Given the description of an element on the screen output the (x, y) to click on. 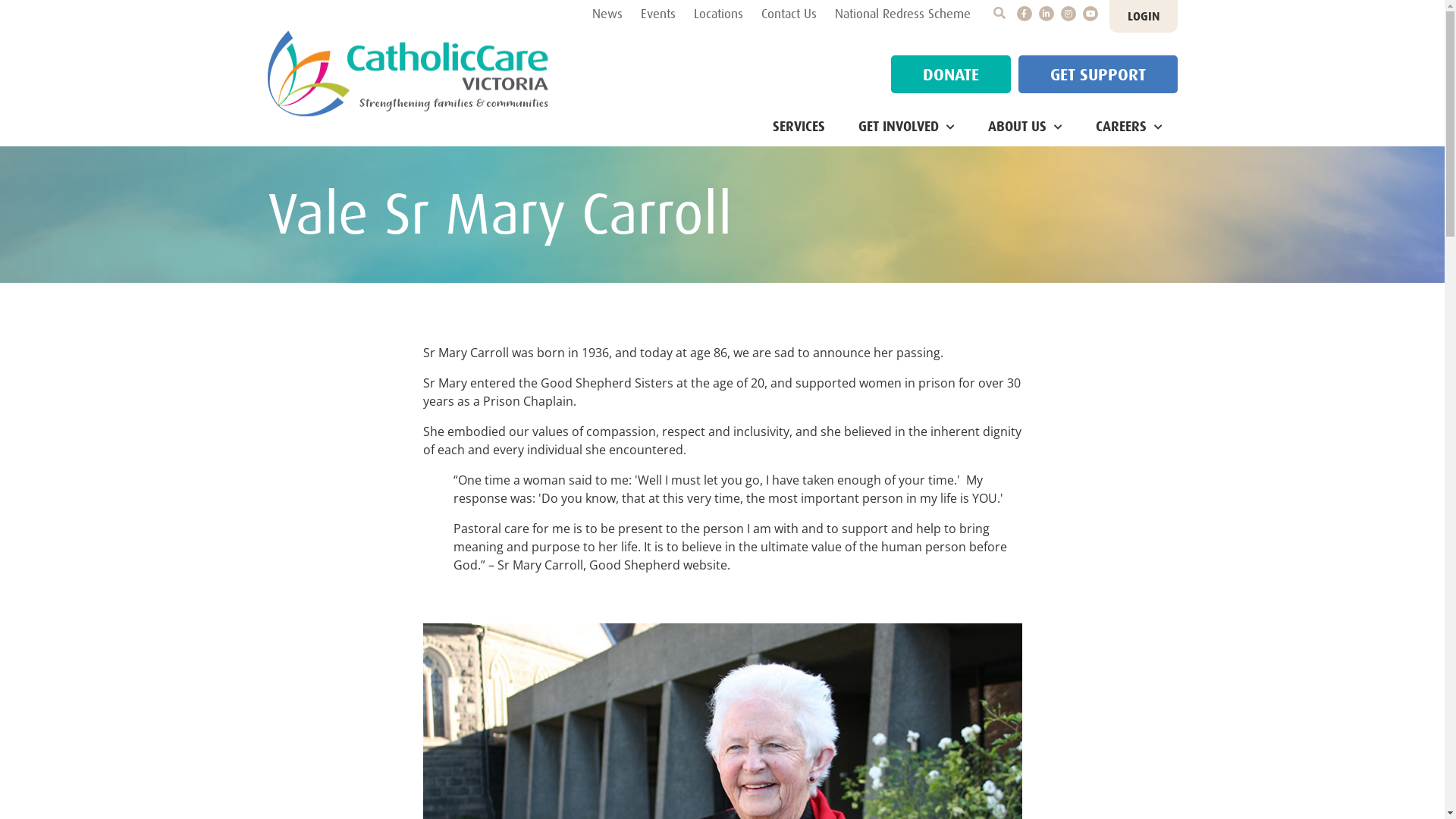
GET INVOLVED Element type: text (906, 127)
CAREERS Element type: text (1127, 127)
News Element type: text (606, 14)
DONATE Element type: text (950, 74)
LOGIN Element type: text (1142, 16)
Contact Us Element type: text (788, 14)
Events Element type: text (657, 14)
Locations Element type: text (717, 14)
SERVICES Element type: text (797, 127)
ABOUT US Element type: text (1024, 127)
GET SUPPORT Element type: text (1096, 74)
National Redress Scheme Element type: text (901, 14)
